Given the description of an element on the screen output the (x, y) to click on. 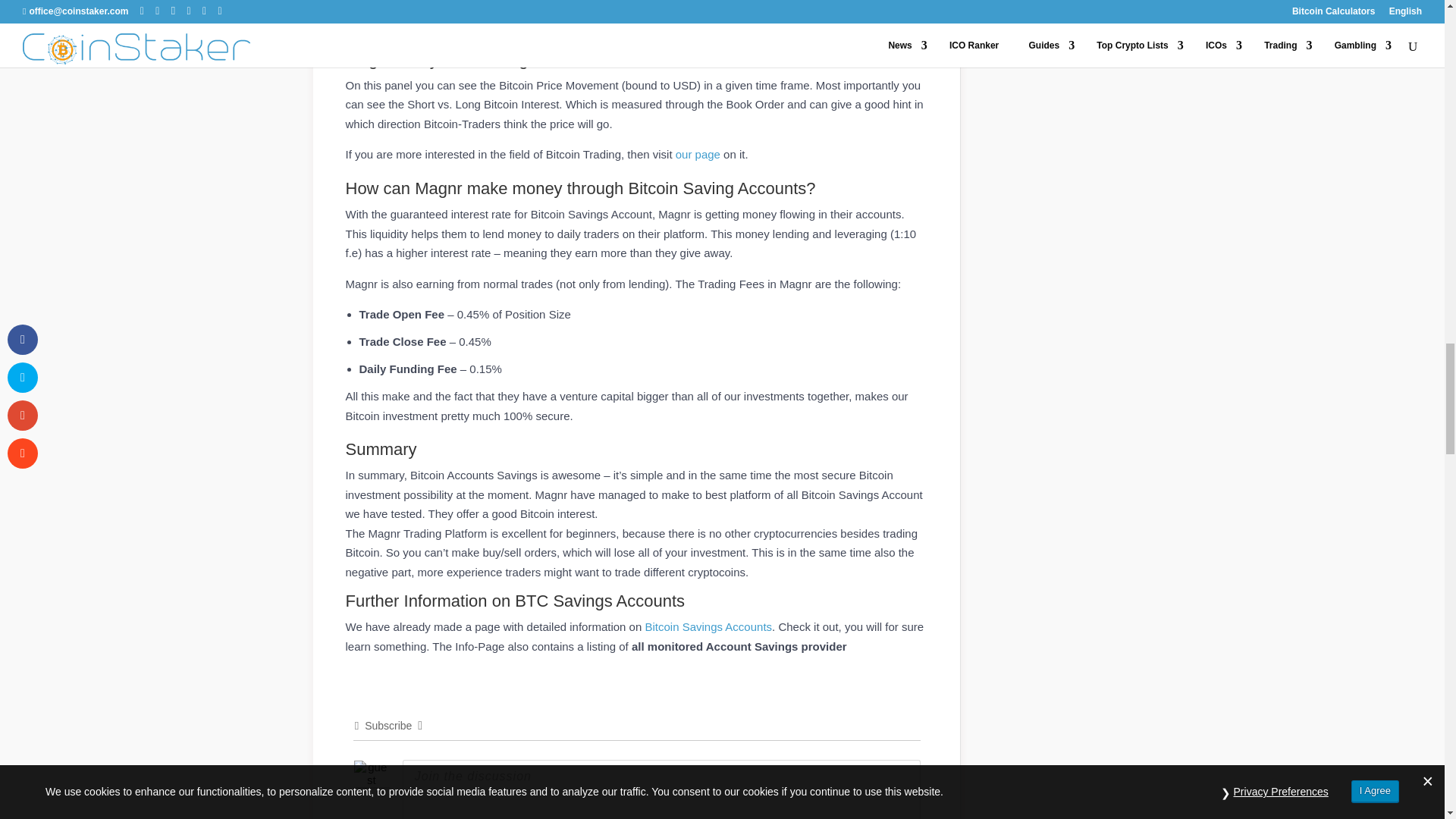
Underline (459, 817)
Spoiler (627, 817)
Unordered List (523, 817)
Ordered List (502, 817)
Blockquote (545, 817)
Link (587, 817)
Bold (417, 817)
Italic (438, 817)
Code Block (566, 817)
Source Code (606, 817)
Strike (481, 817)
